Given the description of an element on the screen output the (x, y) to click on. 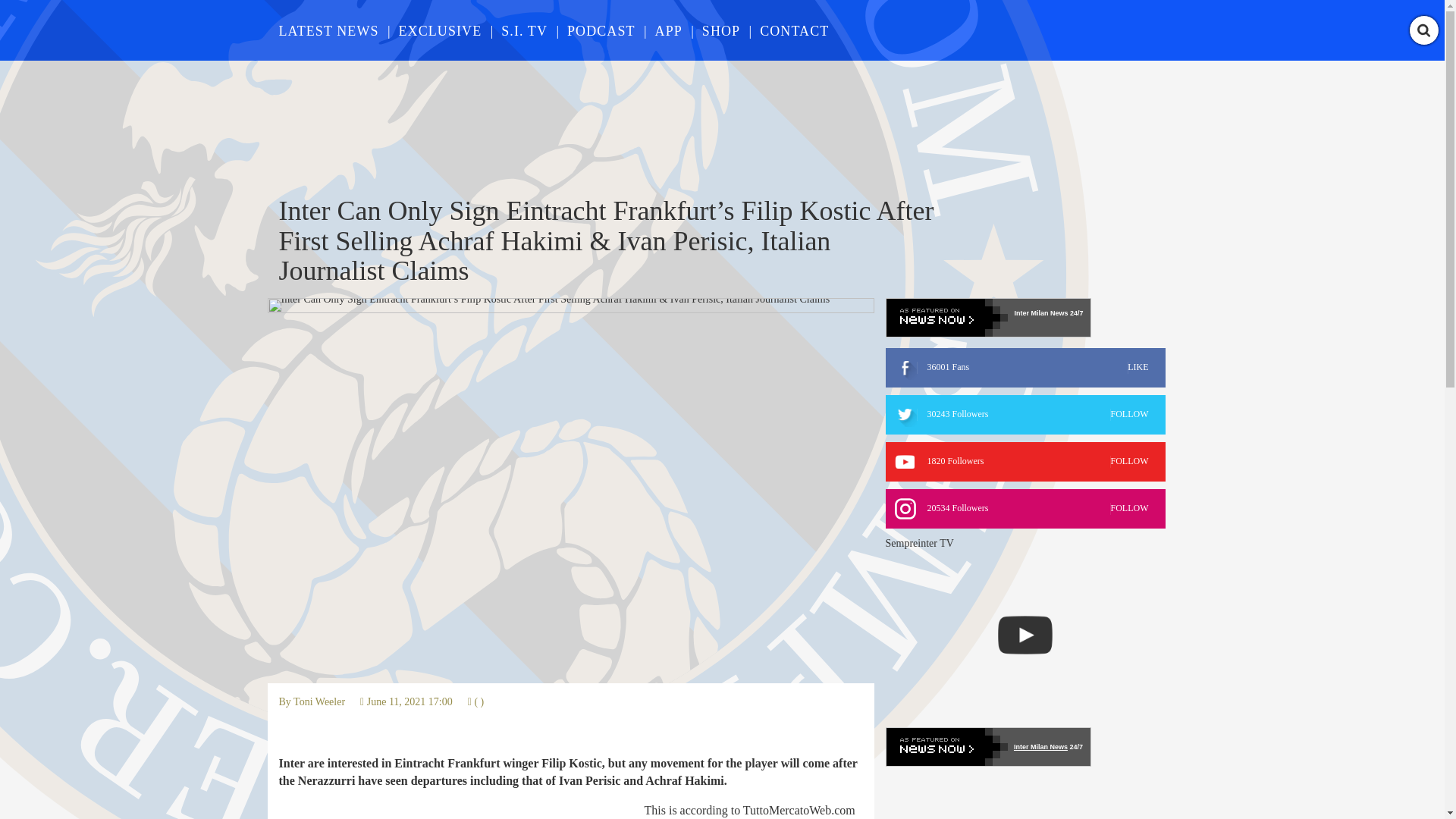
APP (1025, 414)
PODCAST (1025, 461)
View more articles by Toni Weeler (668, 30)
Click here for more Inter Milan News from NewsNow (600, 30)
Inter Milan News (319, 701)
Toni Weeler (987, 317)
S.I. TV (1040, 746)
